Given the description of an element on the screen output the (x, y) to click on. 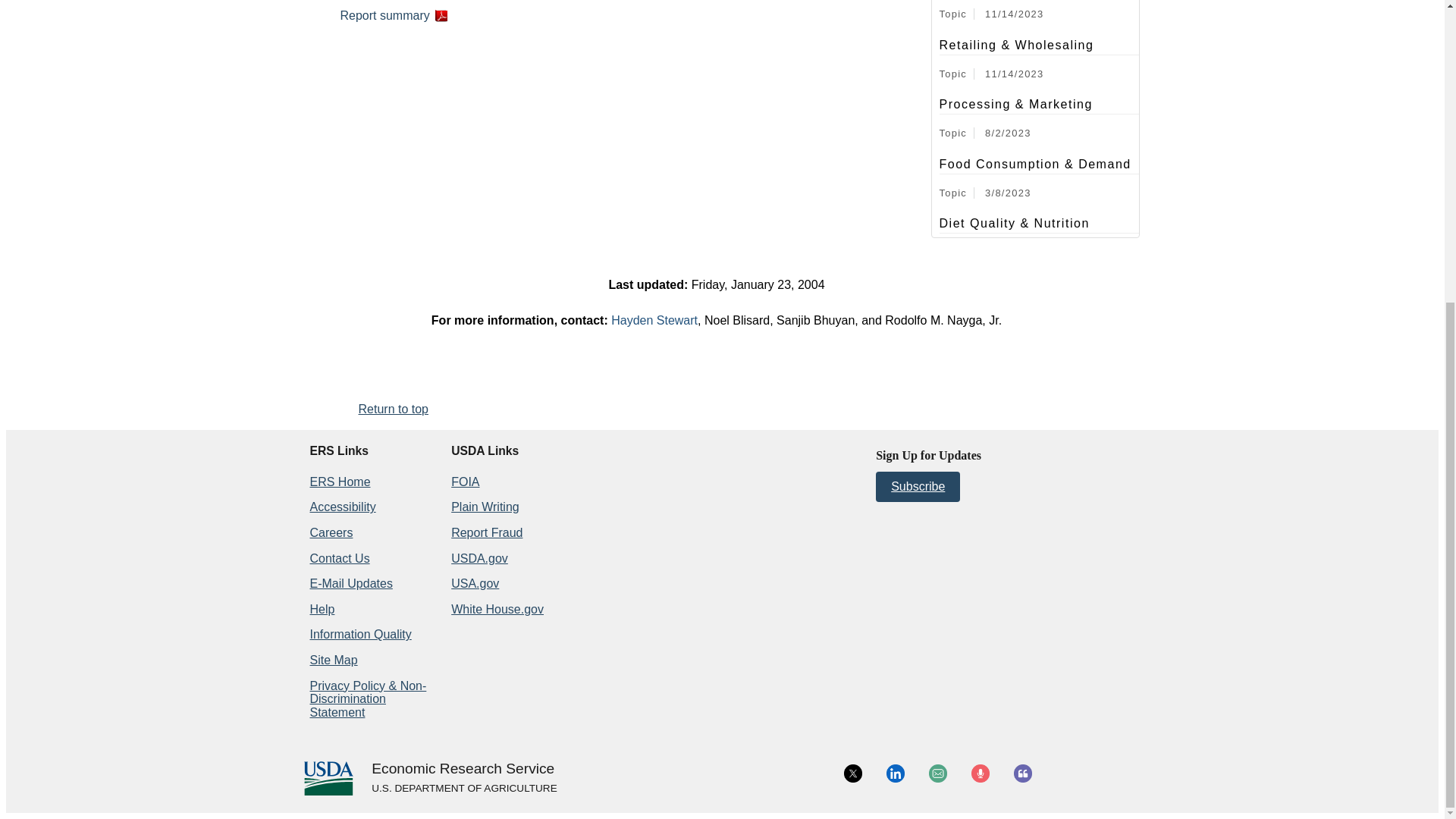
Help (321, 608)
Accessibility (341, 506)
E-Mail Updates (349, 583)
Hayden Stewart (654, 319)
Contact Us (338, 558)
Multimedia Icon (979, 773)
Blog Icon (1021, 773)
USDA.gov (463, 788)
Email Icon (937, 773)
Careers (330, 532)
Report summary (392, 15)
ERS Home (338, 481)
LinkedIn icon (894, 773)
Information Quality (359, 634)
Return to top (393, 408)
